Given the description of an element on the screen output the (x, y) to click on. 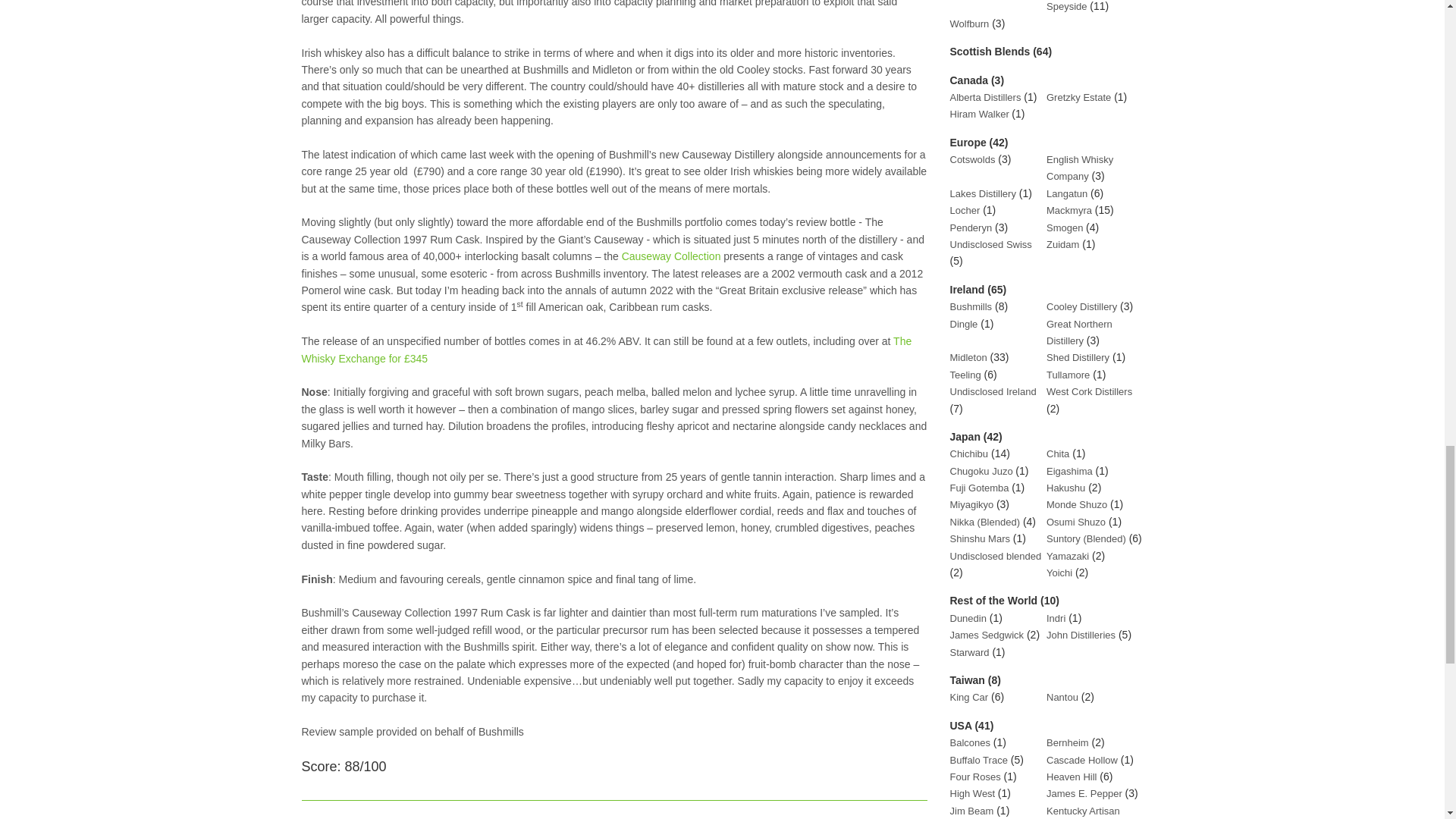
Causeway Collection (670, 256)
